Given the description of an element on the screen output the (x, y) to click on. 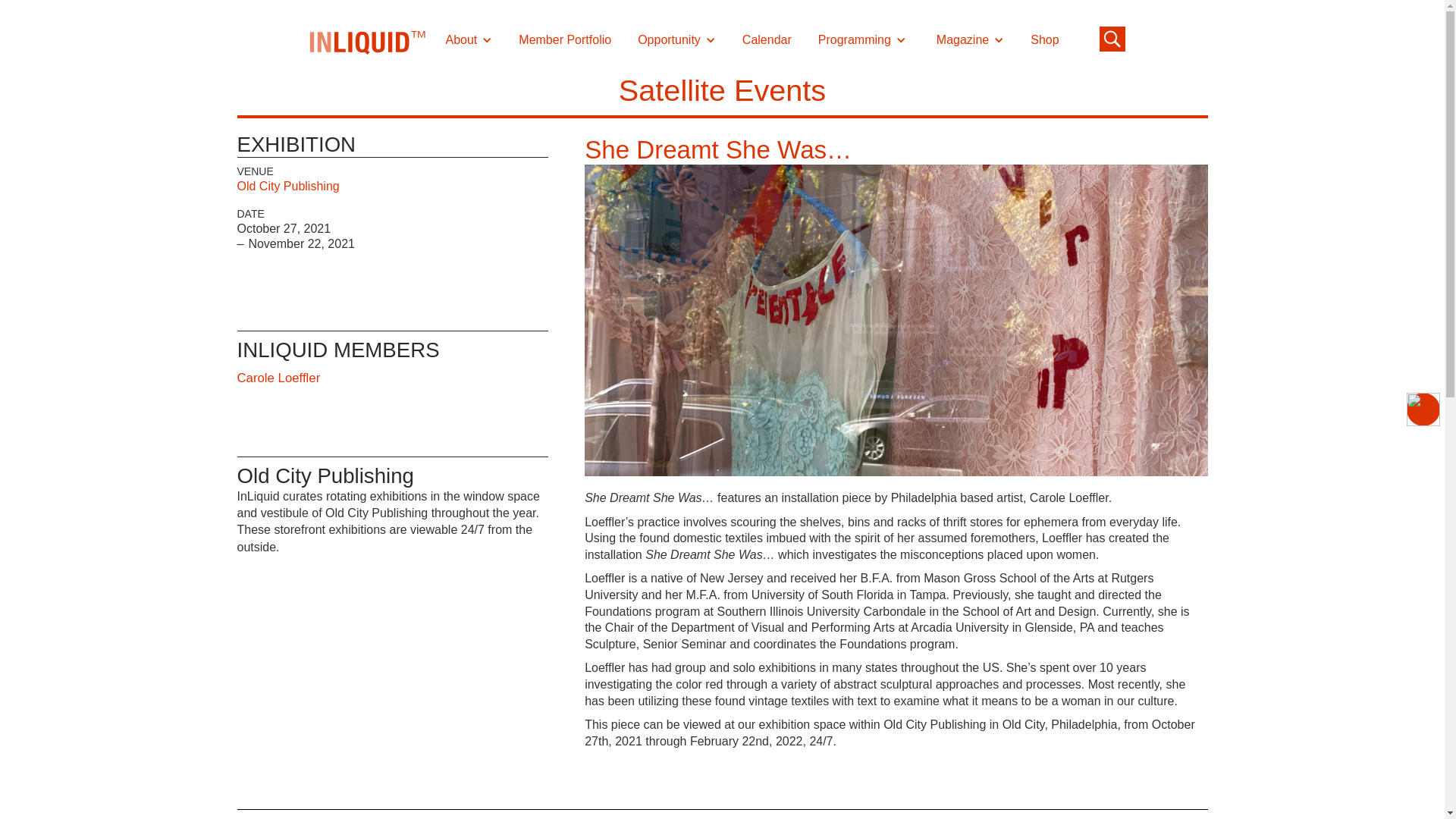
Accessibility Menu (1422, 409)
Old City Publishing (287, 185)
Carole Loeffler (277, 378)
Calendar (766, 40)
Member Portfolio (564, 40)
Shop (1044, 40)
